Given the description of an element on the screen output the (x, y) to click on. 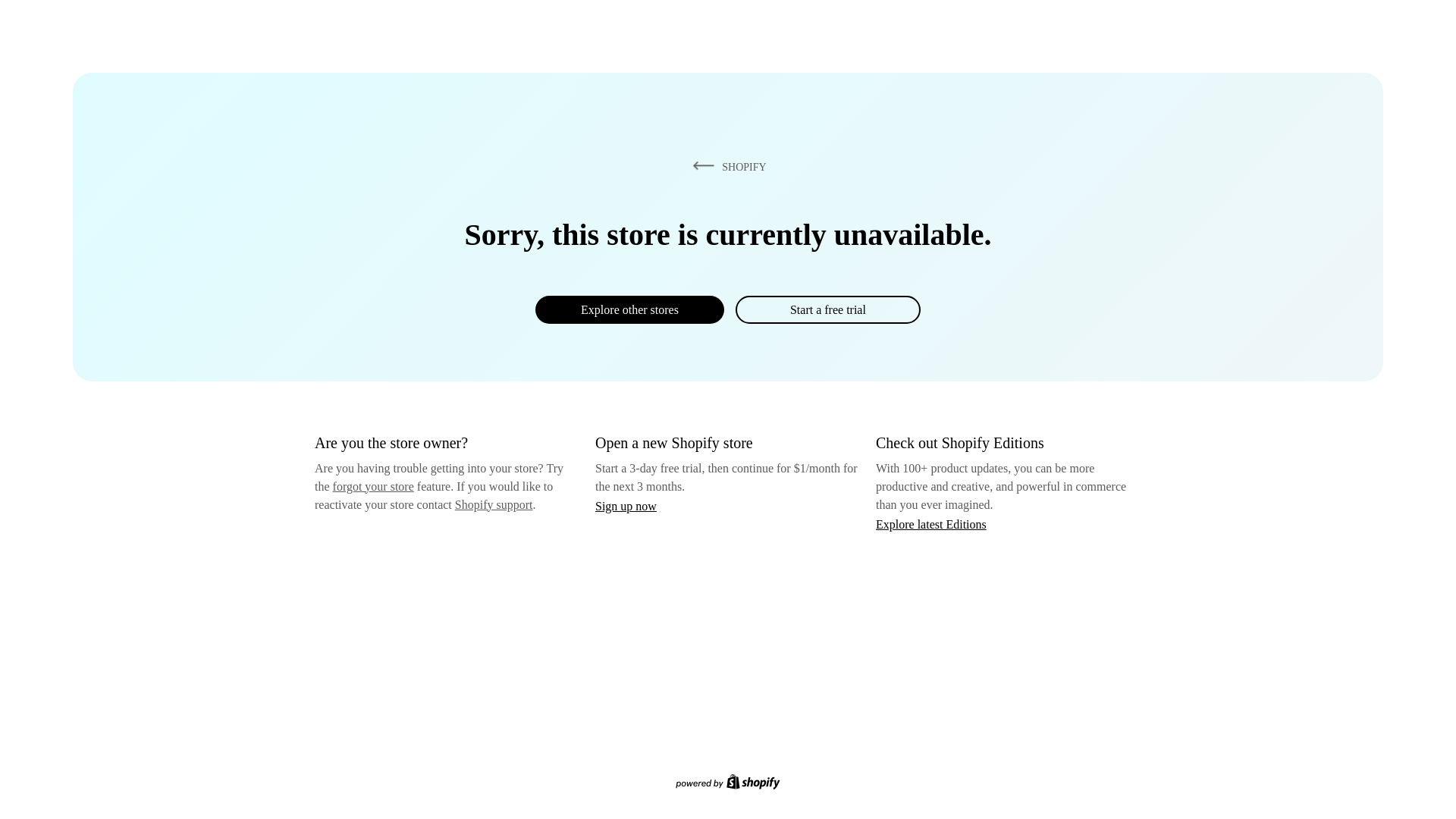
Explore latest Editions (931, 523)
SHOPIFY (726, 166)
forgot your store (373, 486)
Shopify support (493, 504)
Start a free trial (827, 309)
Explore other stores (629, 309)
Sign up now (625, 505)
